Given the description of an element on the screen output the (x, y) to click on. 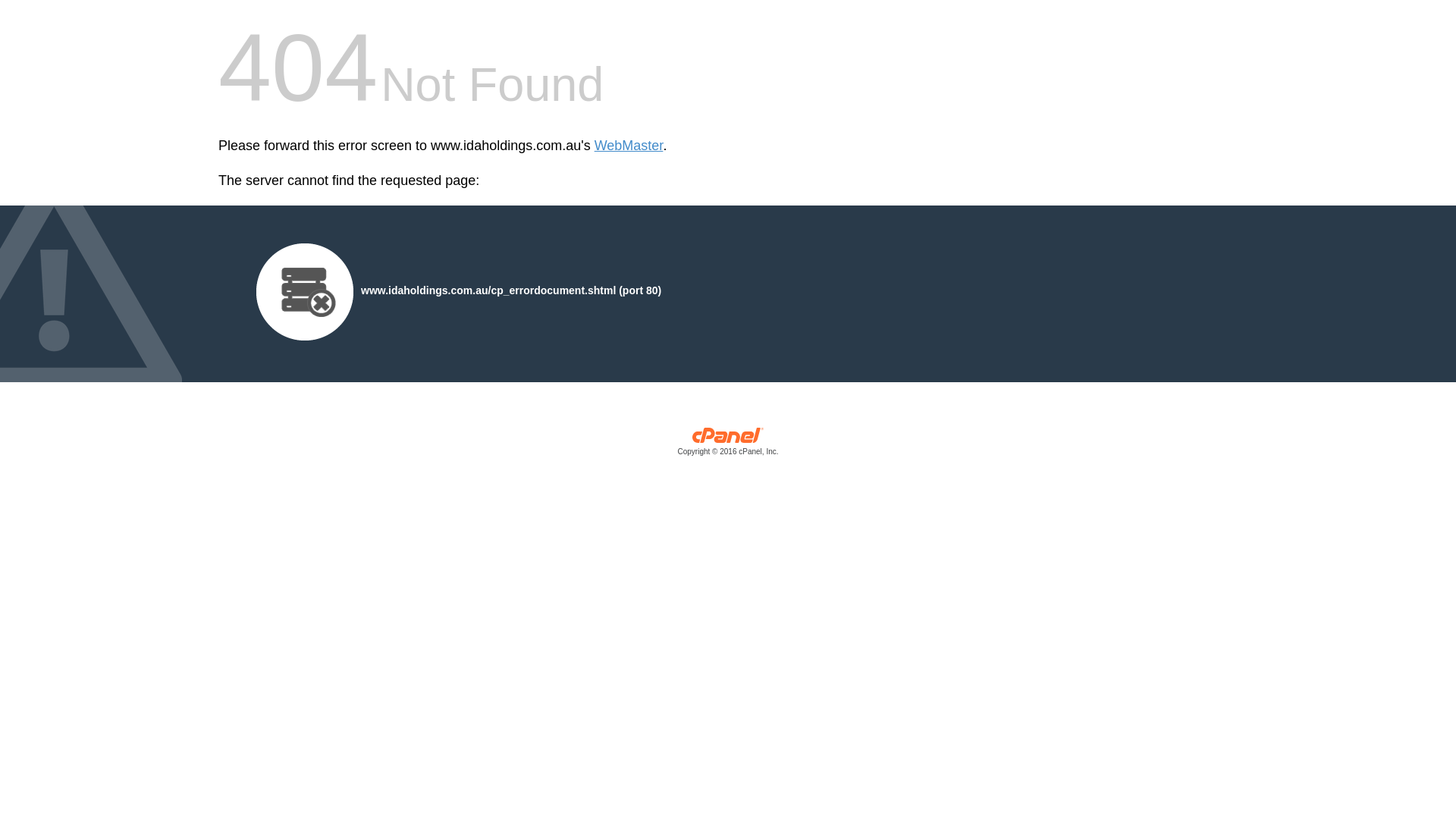
WebMaster Element type: text (628, 145)
